Given the description of an element on the screen output the (x, y) to click on. 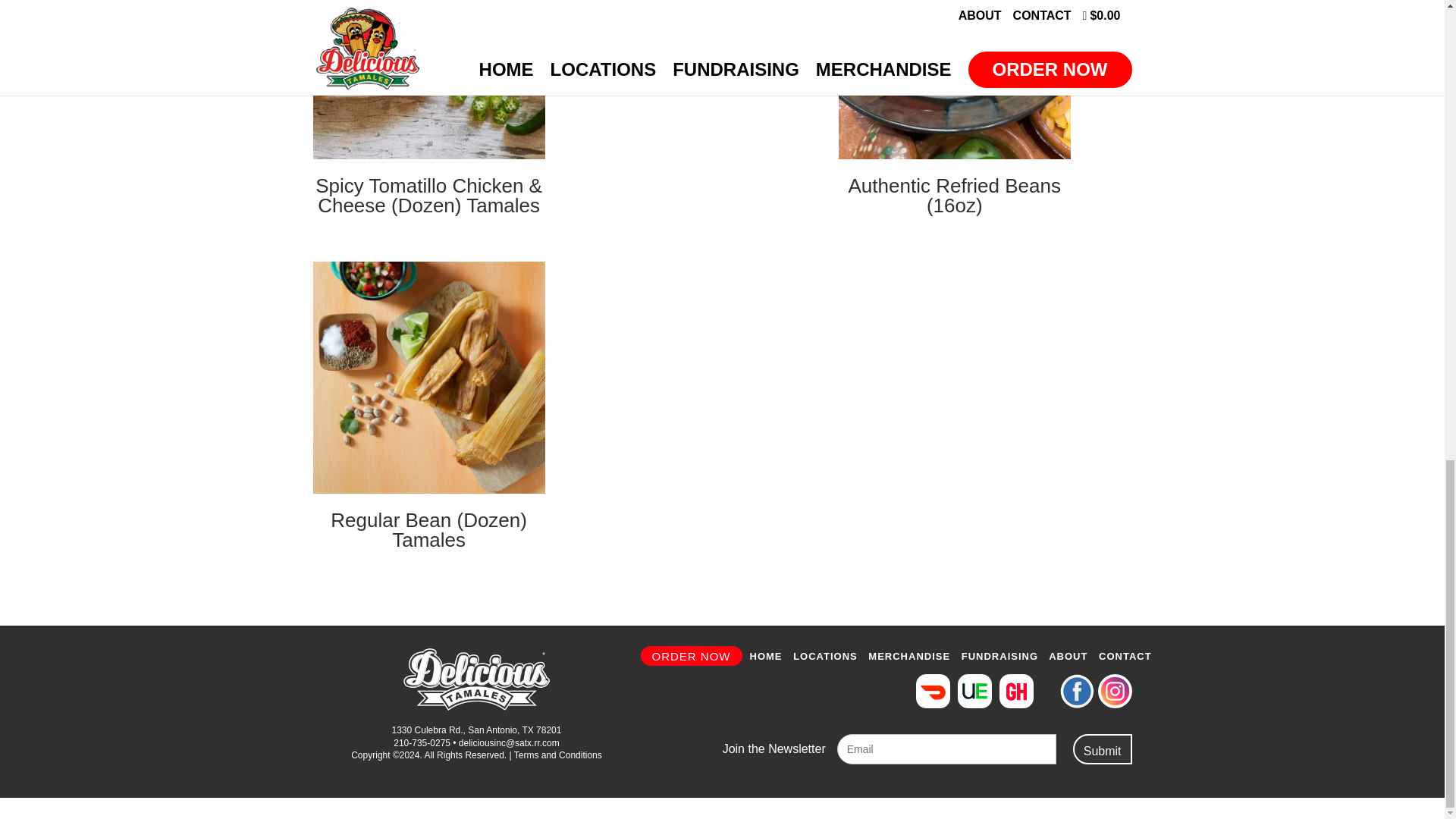
ABOUT (1067, 655)
210-735-0275 (421, 742)
MERCHANDISE (908, 655)
Submit (1102, 748)
white delicious tamales logo (476, 678)
Terms and Conditions (557, 755)
FUNDRAISING (999, 655)
HOME (765, 655)
LOCATIONS (825, 655)
ORDER NOW (690, 655)
